Given the description of an element on the screen output the (x, y) to click on. 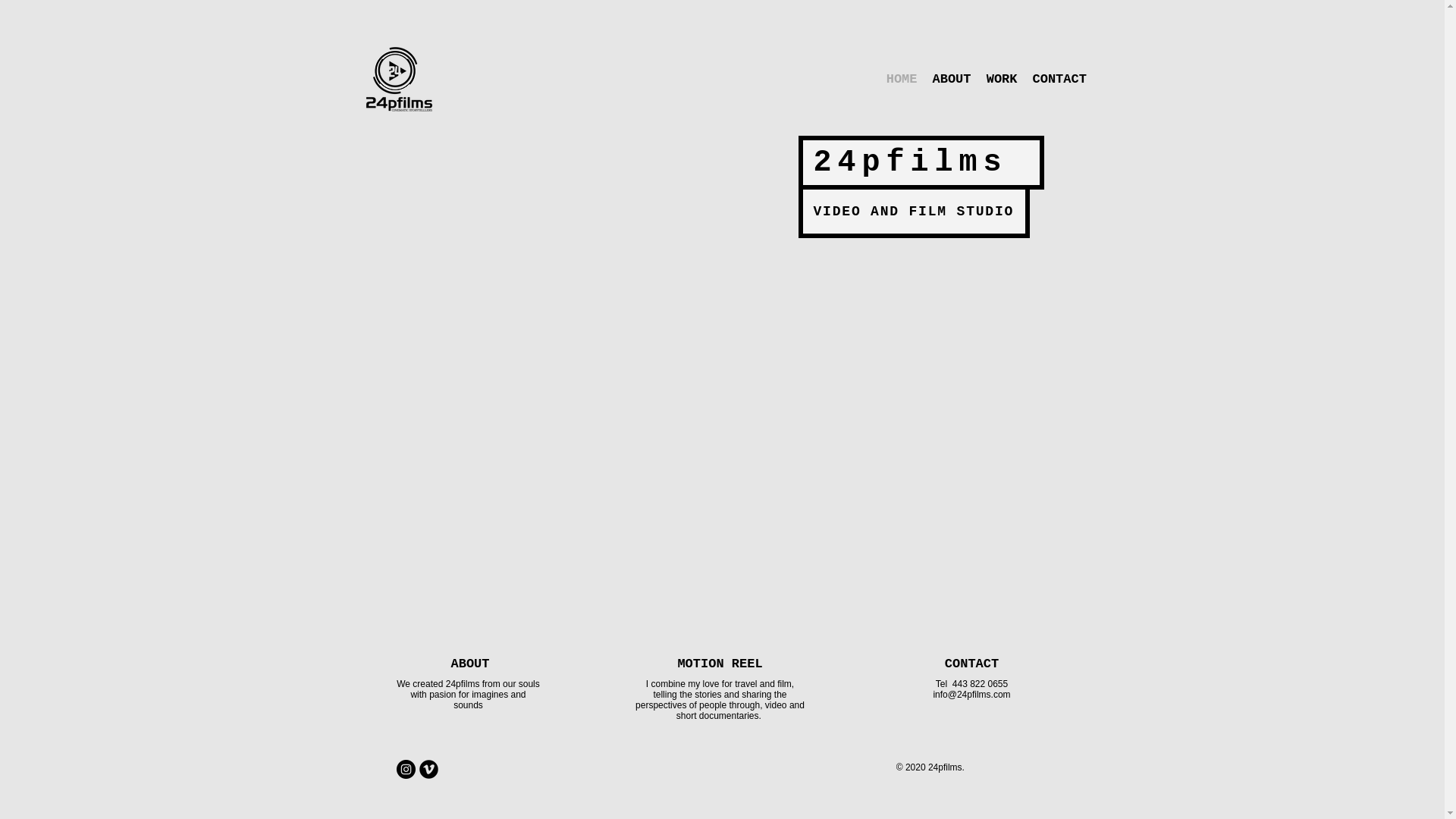
HOME Element type: text (901, 79)
CONTACT Element type: text (971, 664)
CONTACT Element type: text (1059, 79)
ABOUT Element type: text (469, 664)
info@24pfilms.com Element type: text (971, 694)
External Vimeo Element type: hover (719, 317)
MOTION REEL Element type: text (719, 664)
ABOUT Element type: text (952, 79)
WORK Element type: text (1001, 79)
